Given the description of an element on the screen output the (x, y) to click on. 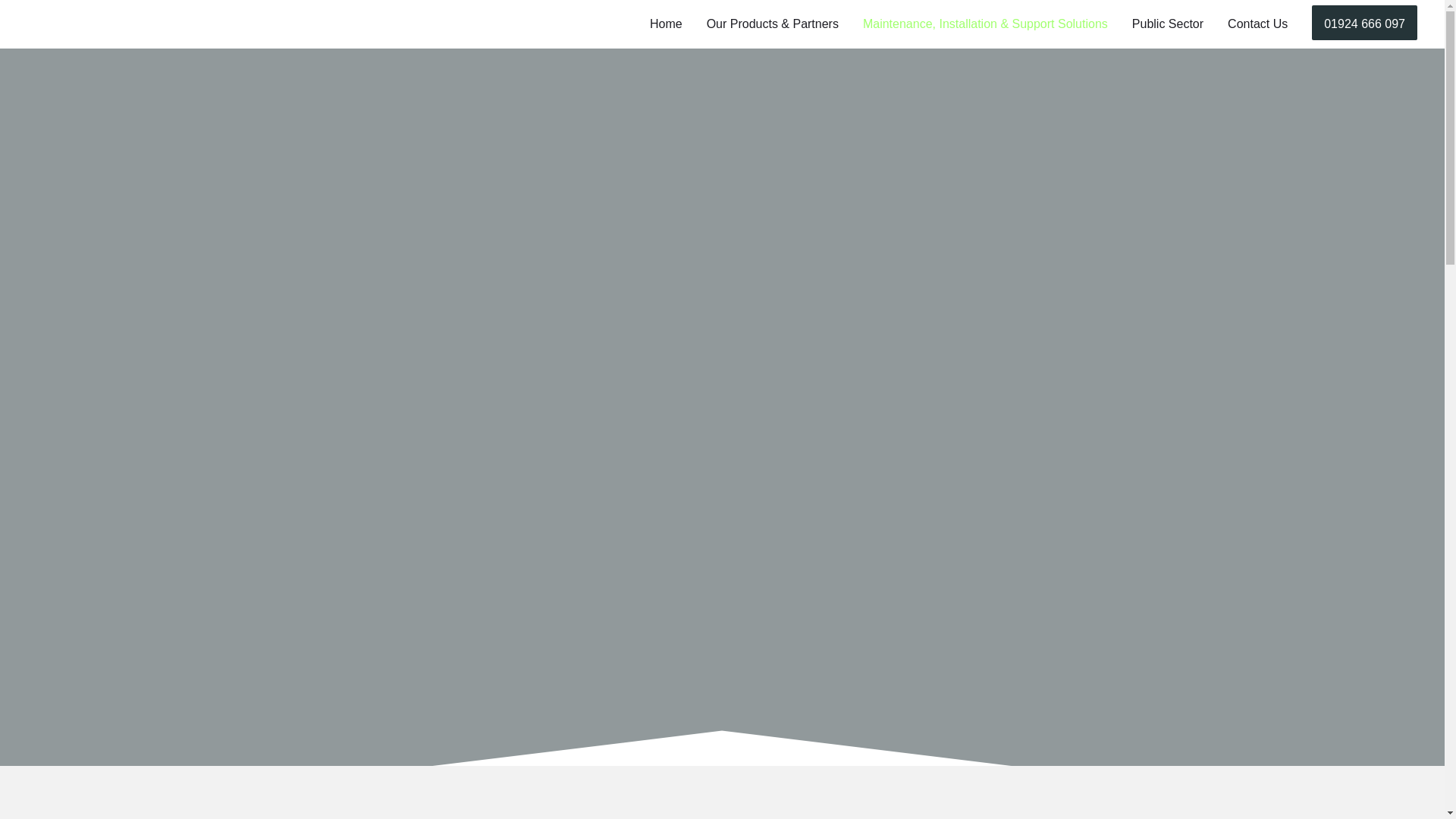
Public Sector (1167, 24)
Contact Us (1257, 24)
01924 666 097 (1363, 22)
01924 666 097 (1363, 24)
Home (665, 24)
